Given the description of an element on the screen output the (x, y) to click on. 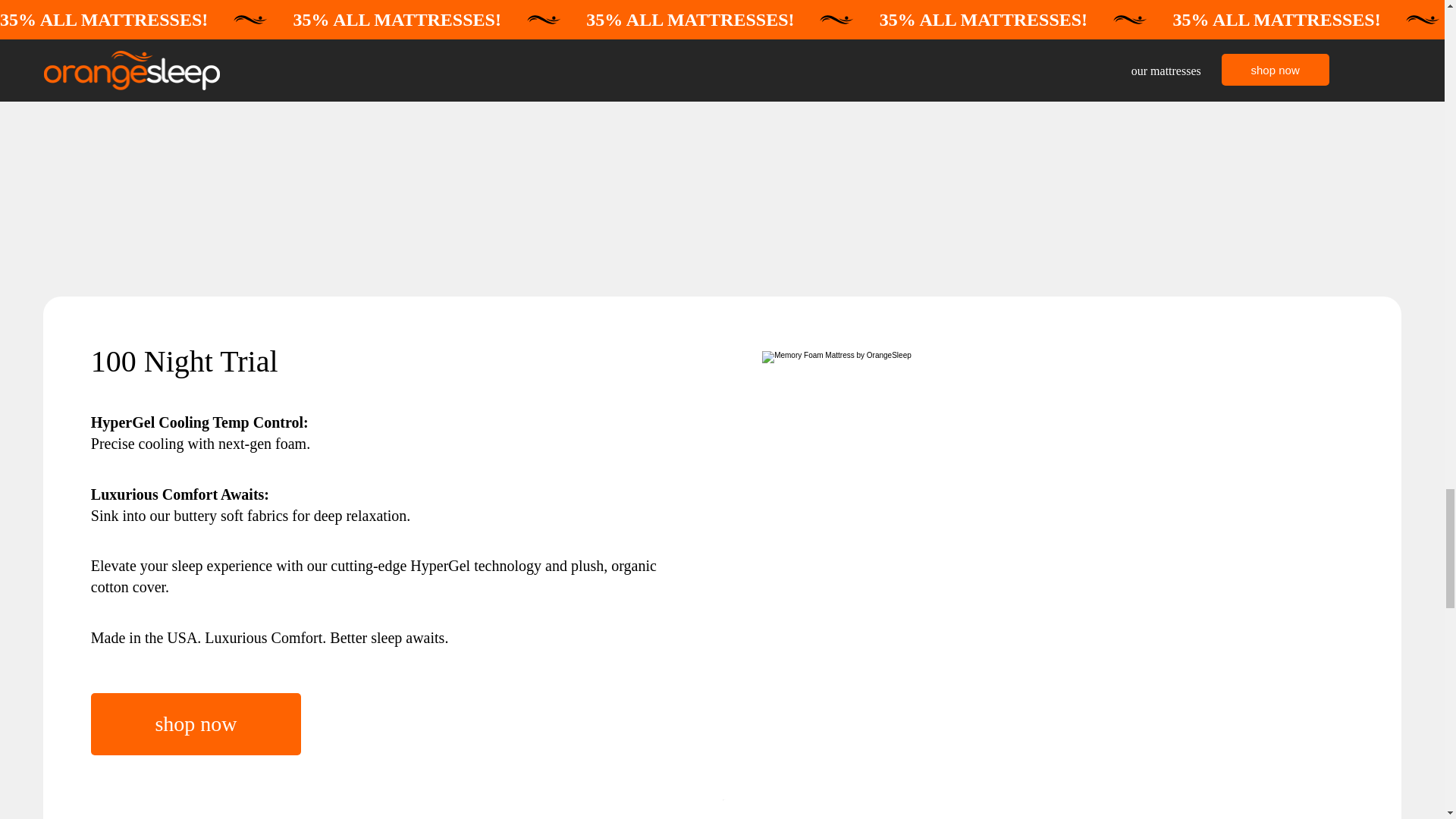
shop now (195, 723)
